Given the description of an element on the screen output the (x, y) to click on. 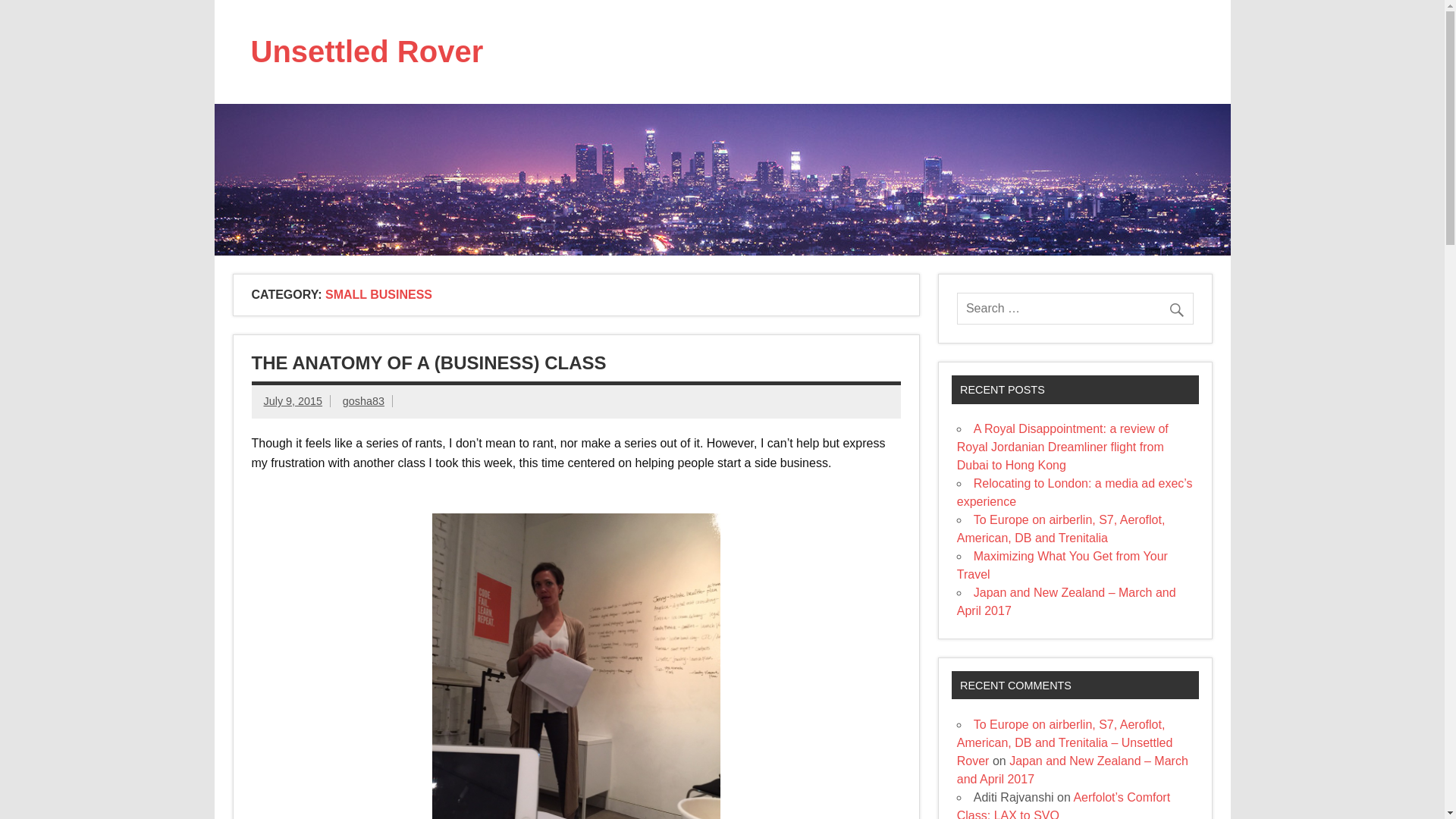
Unsettled Rover (366, 51)
July 9, 2015 (293, 400)
View all posts by gosha83 (363, 400)
10:20 pm (293, 400)
Maximizing What You Get from Your Travel (1061, 564)
gosha83 (363, 400)
